Given the description of an element on the screen output the (x, y) to click on. 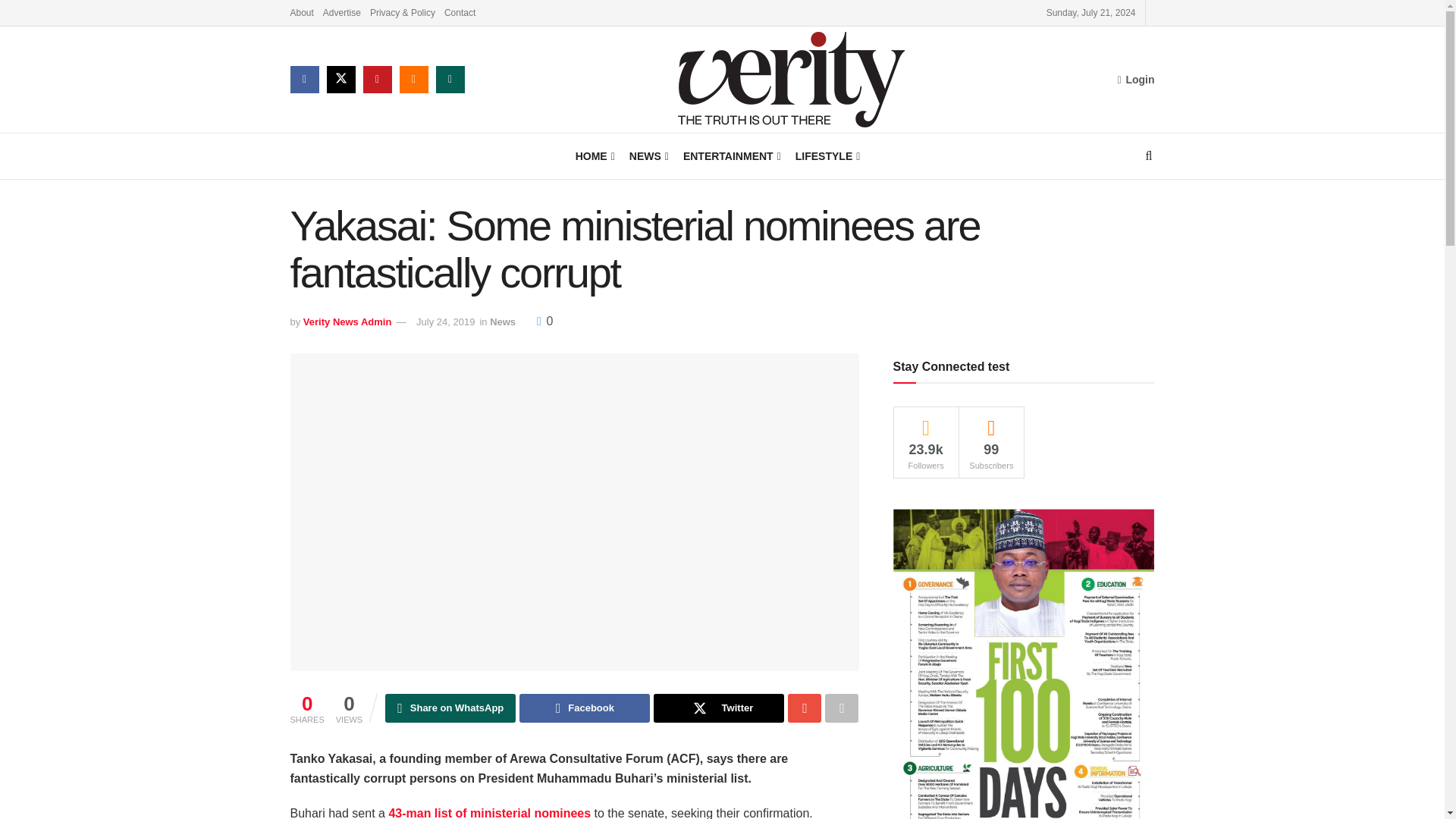
NEWS (647, 156)
About (301, 12)
Contact (460, 12)
Login (1135, 79)
Advertise (342, 12)
ENTERTAINMENT (730, 156)
HOME (593, 156)
